Given the description of an element on the screen output the (x, y) to click on. 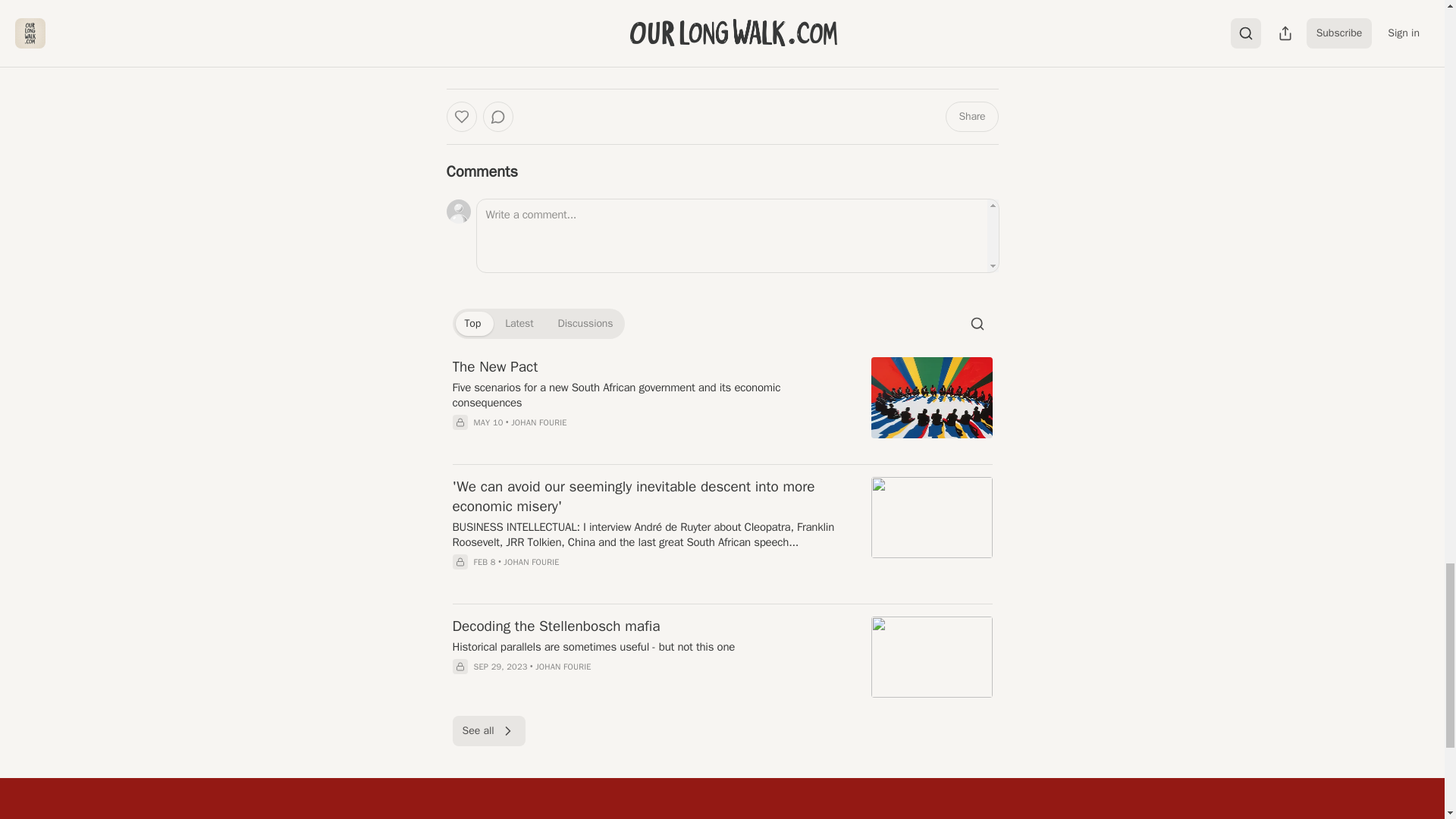
Share (970, 116)
Latest (518, 323)
Top (471, 323)
Subscribe (827, 49)
